Given the description of an element on the screen output the (x, y) to click on. 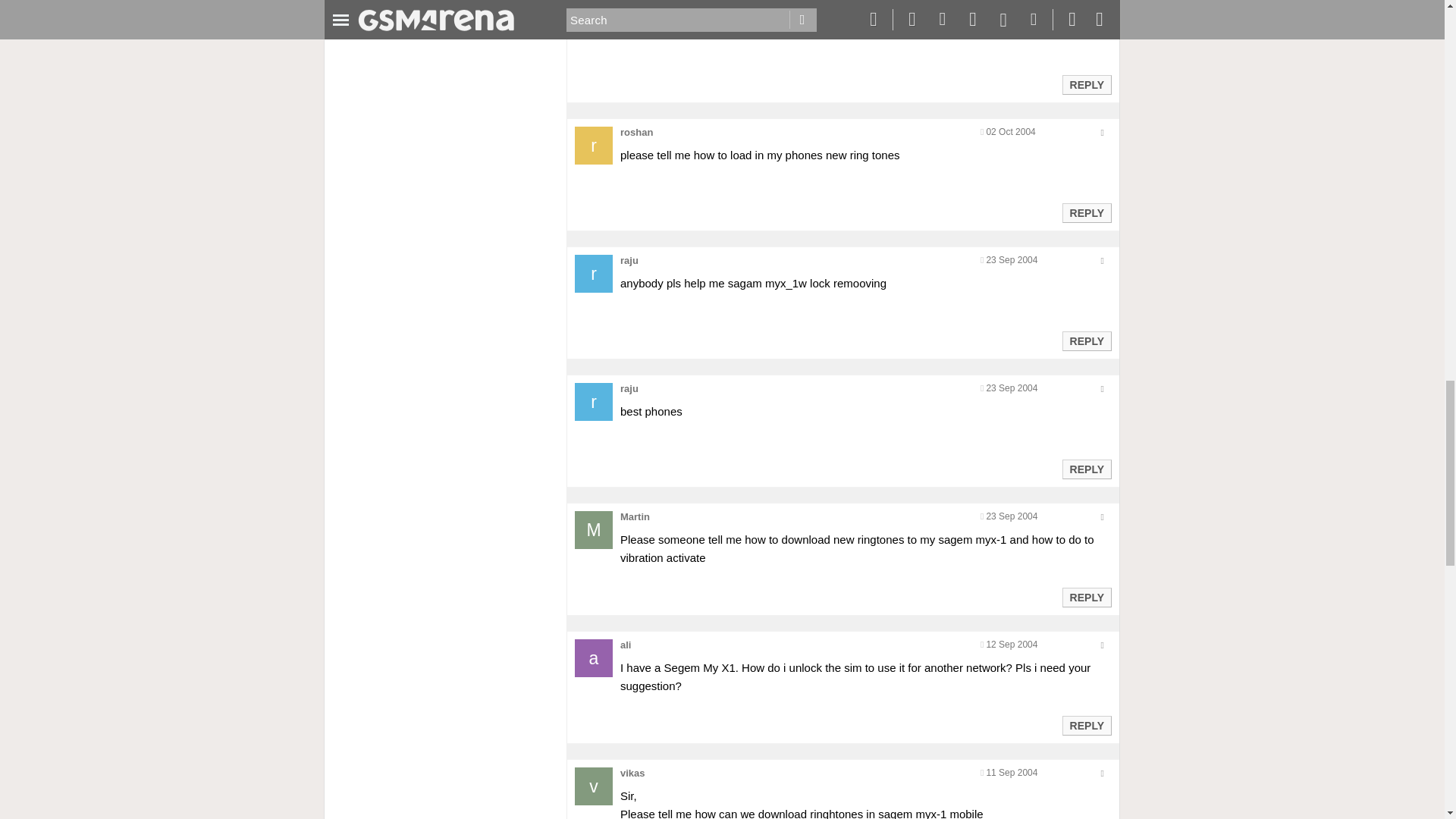
Reply to this post (1086, 84)
Reply to this post (1086, 469)
Reply to this post (1086, 597)
Reply to this post (1086, 340)
Reply to this post (1086, 213)
